Given the description of an element on the screen output the (x, y) to click on. 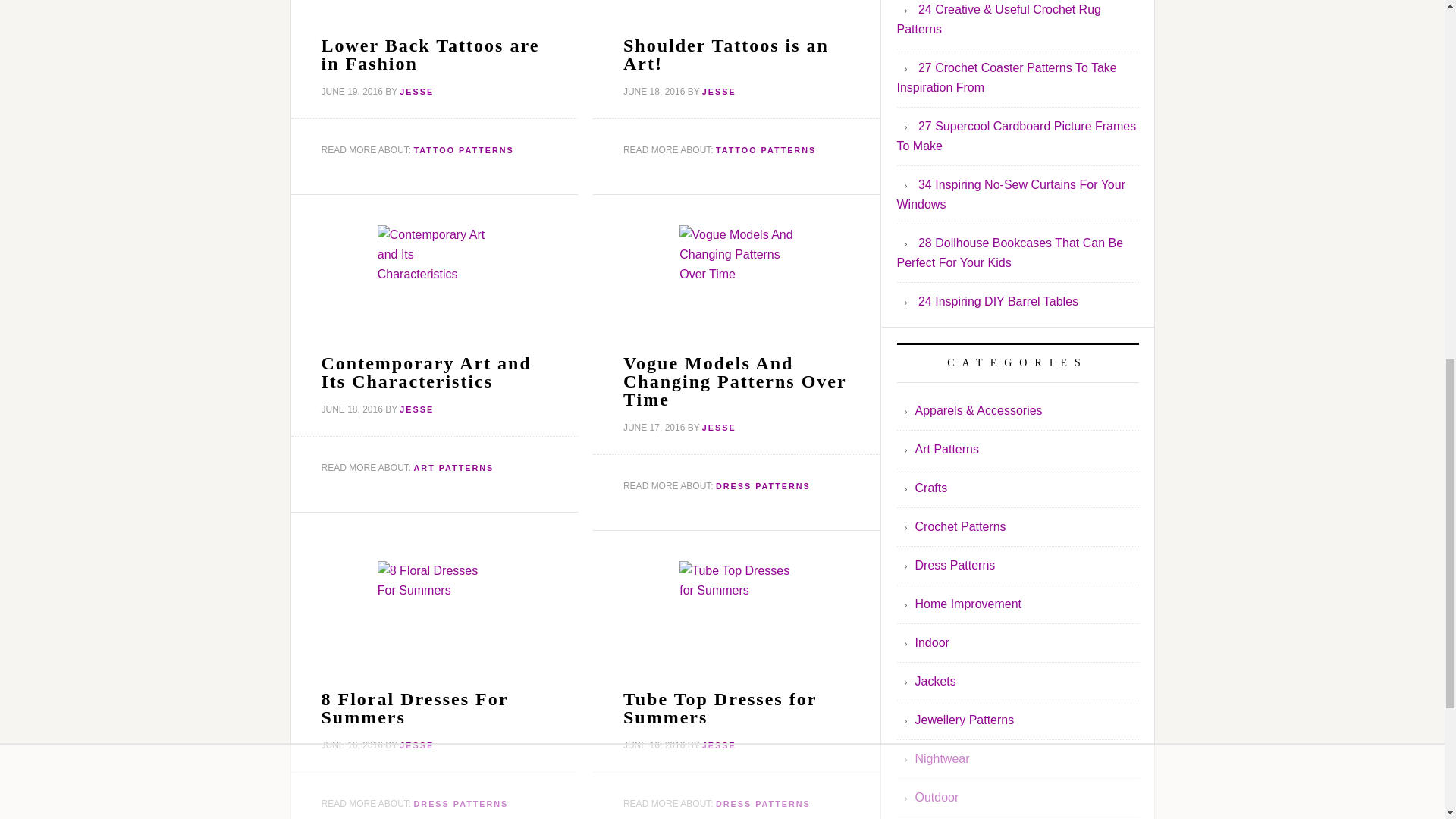
ART PATTERNS (454, 466)
Lower Back Tattoos are in Fashion (430, 54)
DRESS PATTERNS (763, 803)
Shoulder Tattoos is an Art! (725, 54)
JESSE (718, 427)
Vogue Models And Changing Patterns Over Time (734, 380)
DRESS PATTERNS (763, 484)
JESSE (415, 409)
JESSE (718, 91)
8 Floral Dresses For Summers (414, 708)
TATTOO PATTERNS (765, 149)
Contemporary Art and Its Characteristics (426, 371)
JESSE (415, 745)
DRESS PATTERNS (460, 803)
JESSE (718, 745)
